Given the description of an element on the screen output the (x, y) to click on. 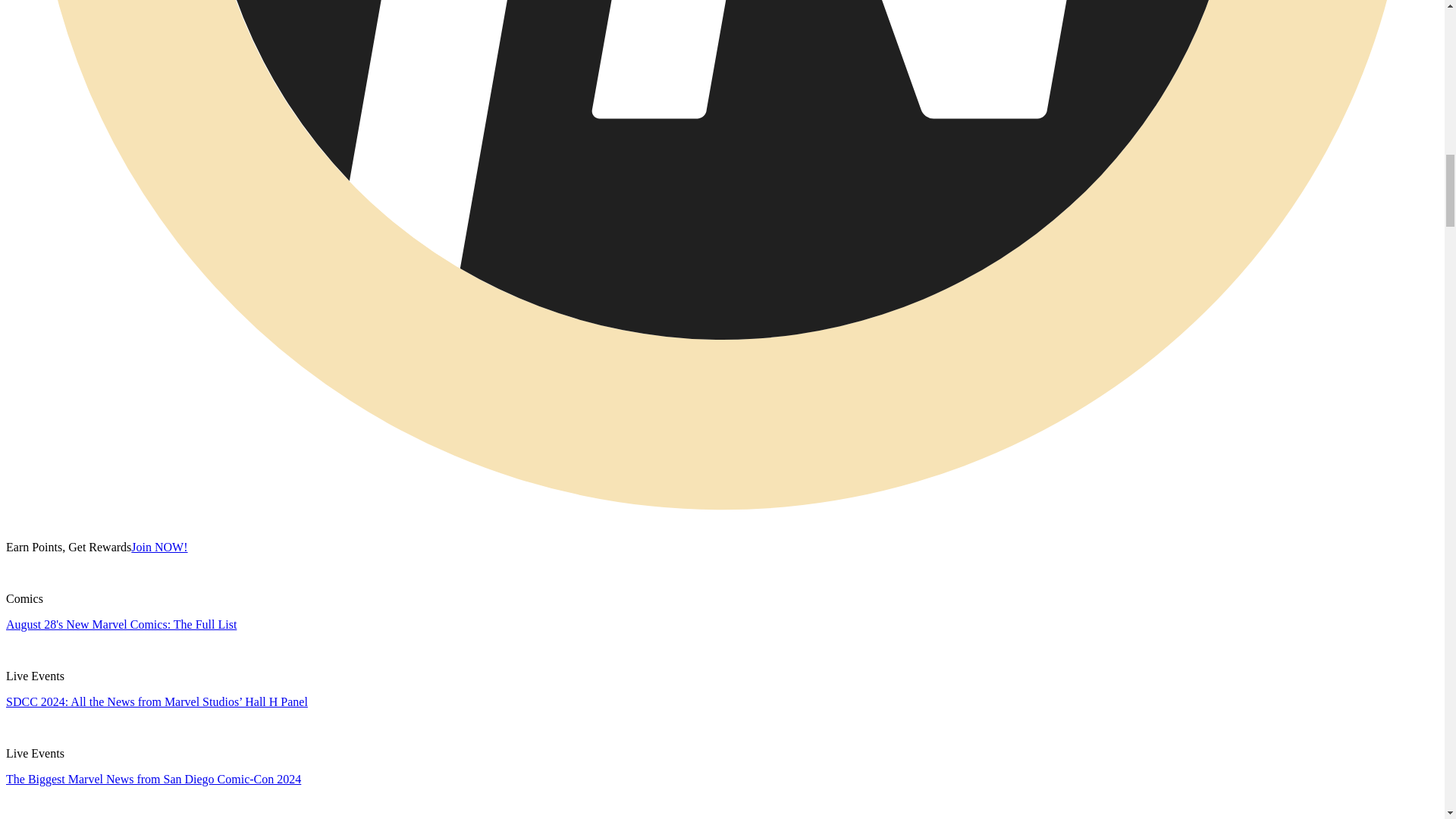
Join NOW! (159, 546)
The Biggest Marvel News from San Diego Comic-Con 2024 (153, 779)
August 28's New Marvel Comics: The Full List (120, 624)
